Given the description of an element on the screen output the (x, y) to click on. 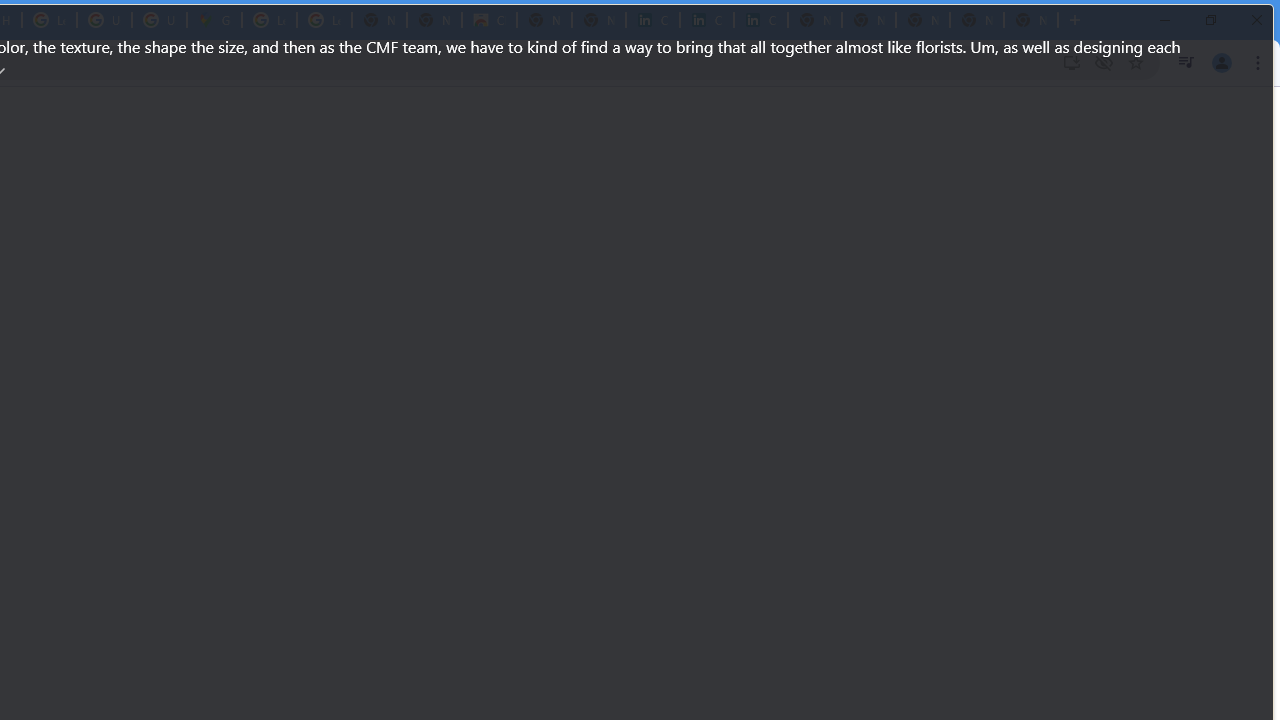
Copyright Policy (760, 20)
Cookie Policy | LinkedIn (652, 20)
